Given the description of an element on the screen output the (x, y) to click on. 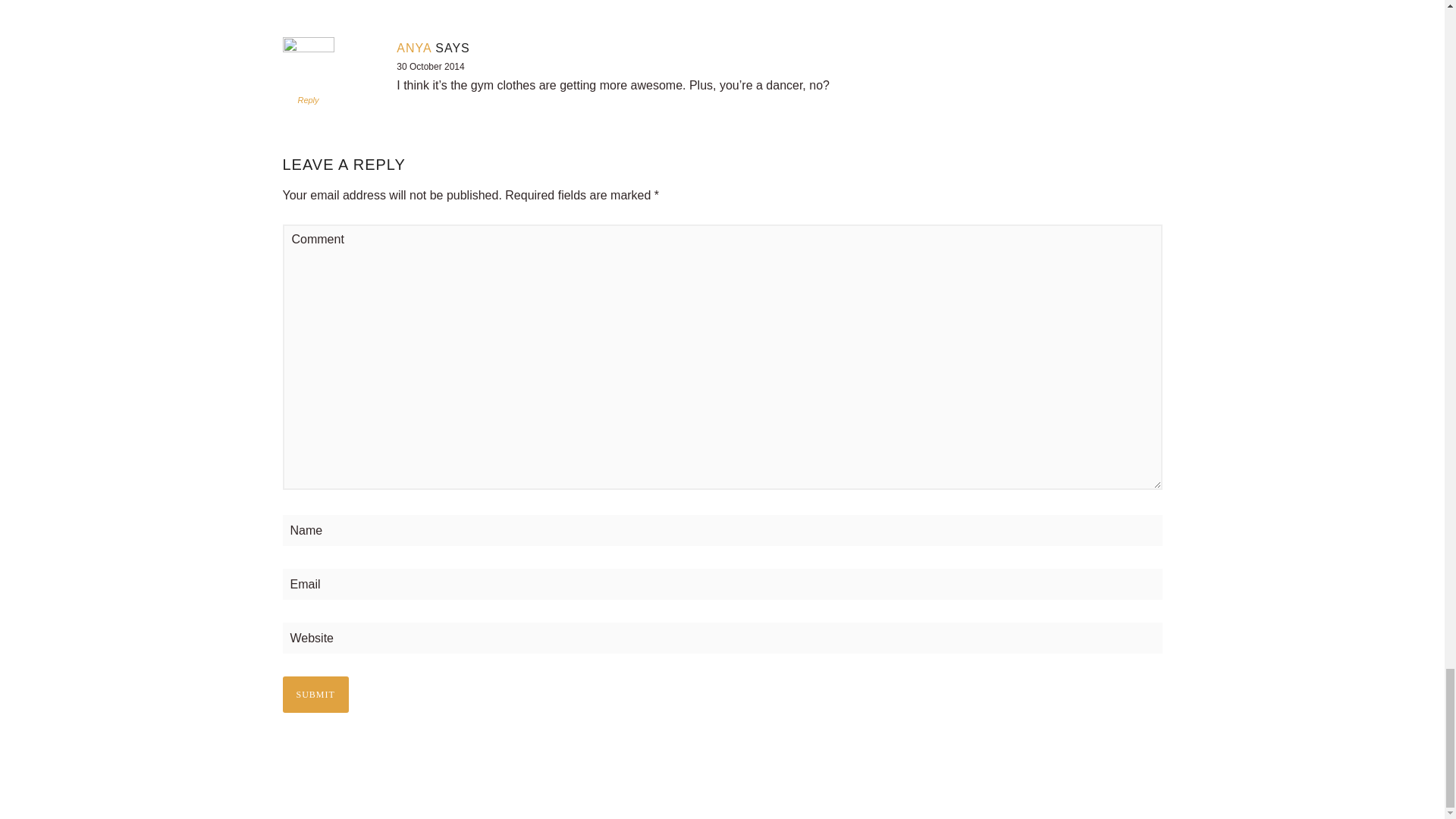
Reply (307, 99)
Submit (314, 694)
ANYA (413, 47)
Submit (314, 694)
